Given the description of an element on the screen output the (x, y) to click on. 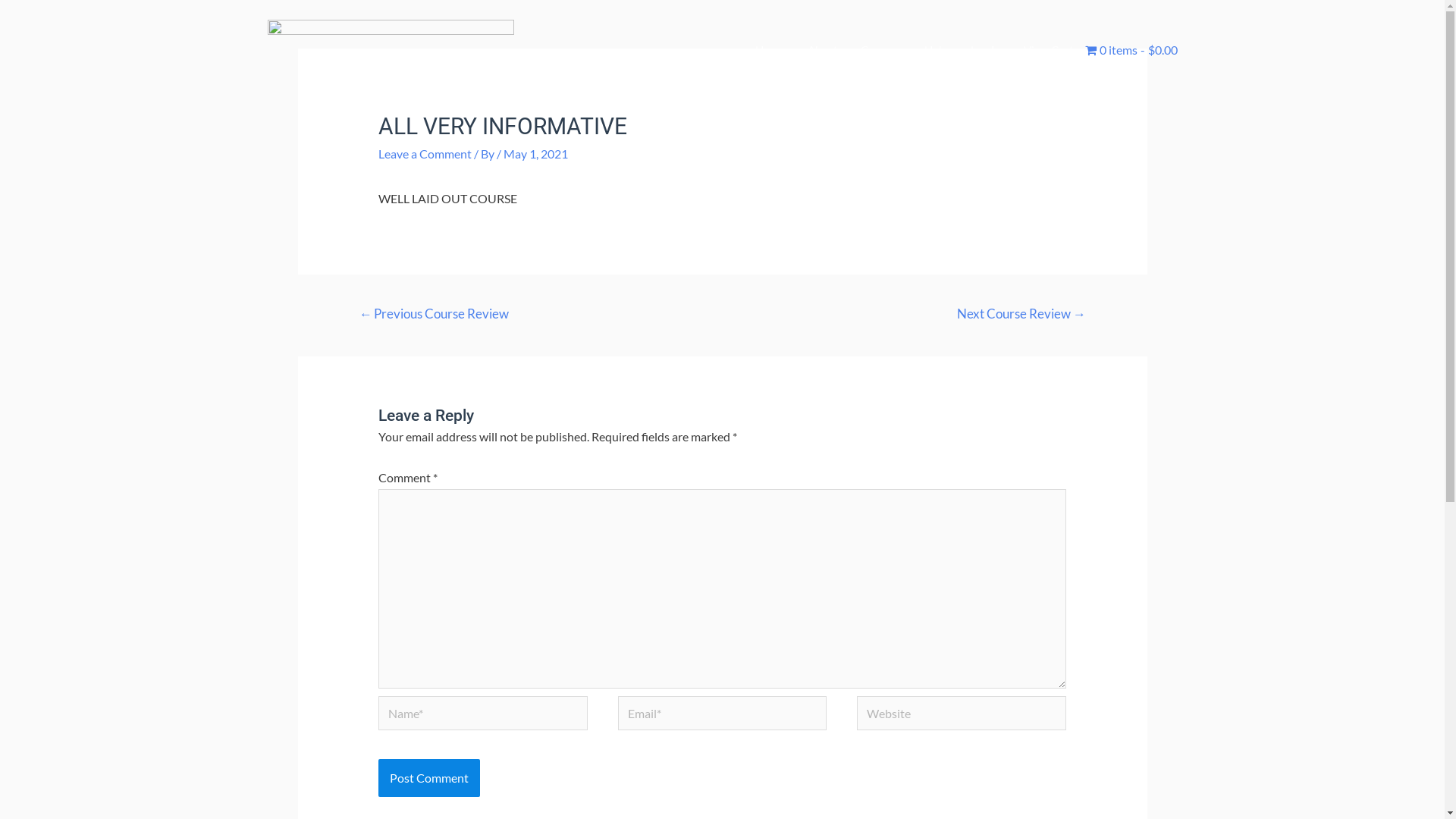
Courses Element type: text (881, 49)
Post Comment Element type: text (429, 778)
About Element type: text (822, 49)
Help Element type: text (936, 49)
View Cart Element type: text (1047, 49)
Home Element type: text (769, 49)
0 items$0.00 Element type: text (1130, 49)
Leave a Comment Element type: text (424, 153)
Log In Element type: text (984, 49)
